Given the description of an element on the screen output the (x, y) to click on. 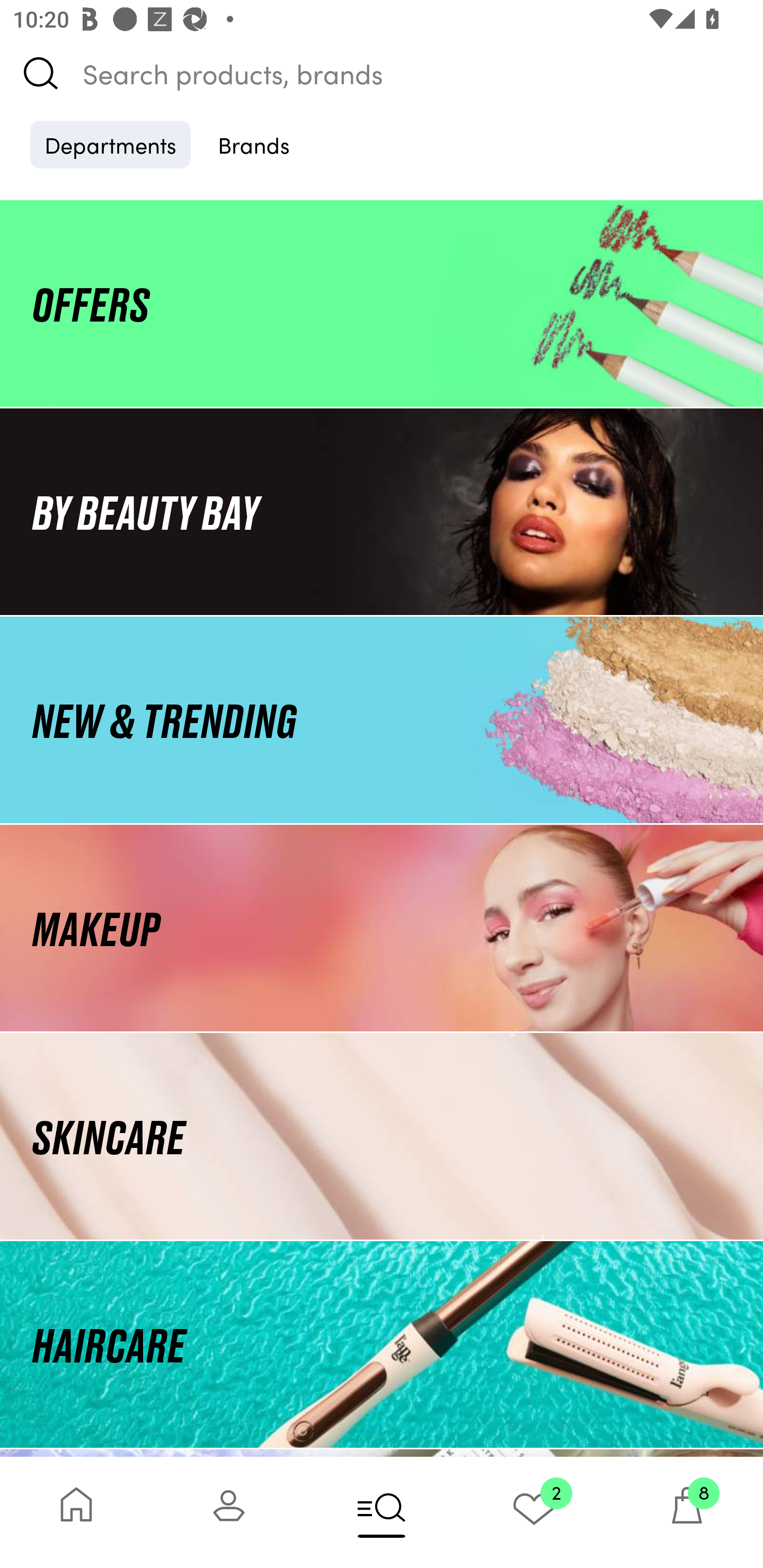
Search products, brands (381, 72)
Departments (110, 143)
Brands (253, 143)
OFFERS (381, 303)
BY BEAUTY BAY (381, 510)
NEW & TRENDING (381, 719)
MAKEUP (381, 927)
SKINCARE (381, 1136)
HAIRCARE (381, 1344)
2 (533, 1512)
8 (686, 1512)
